Given the description of an element on the screen output the (x, y) to click on. 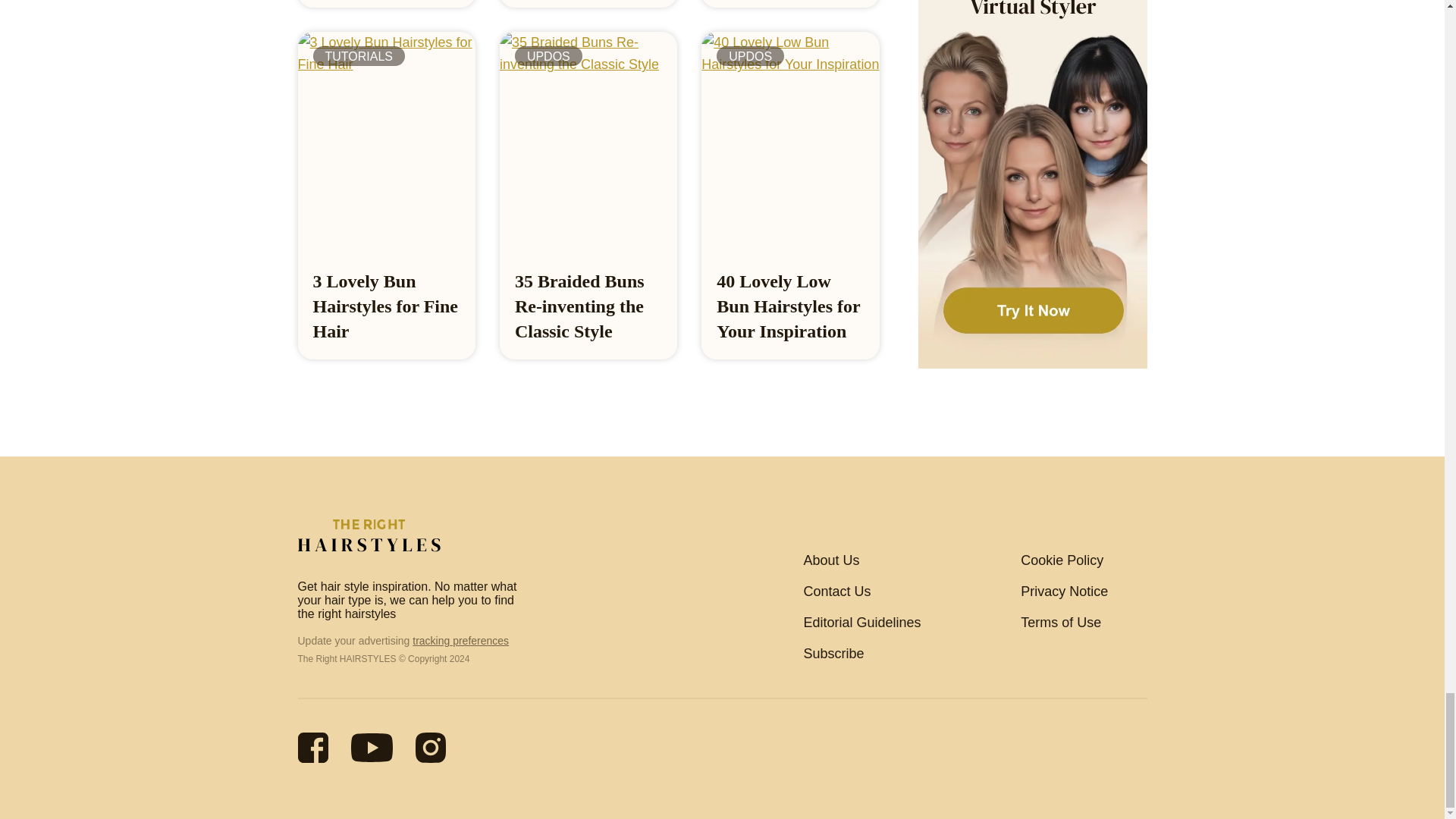
Tutorials (358, 55)
3 Lovely Bun Hairstyles for Fine Hair (385, 306)
Updos (548, 55)
35 Braided Buns Re-inventing the Classic Style (580, 306)
